Given the description of an element on the screen output the (x, y) to click on. 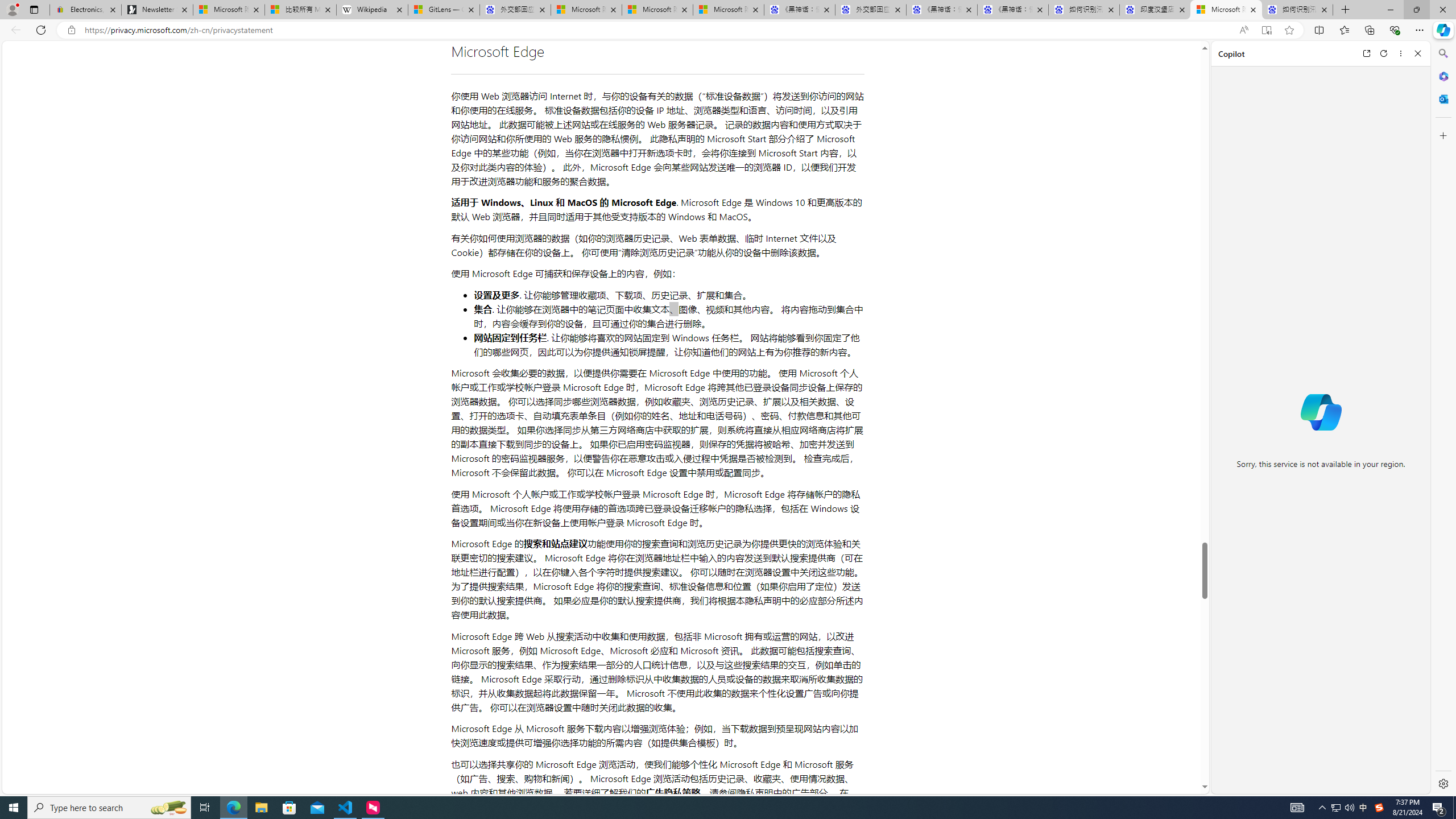
Newsletter Sign Up (157, 9)
